Given the description of an element on the screen output the (x, y) to click on. 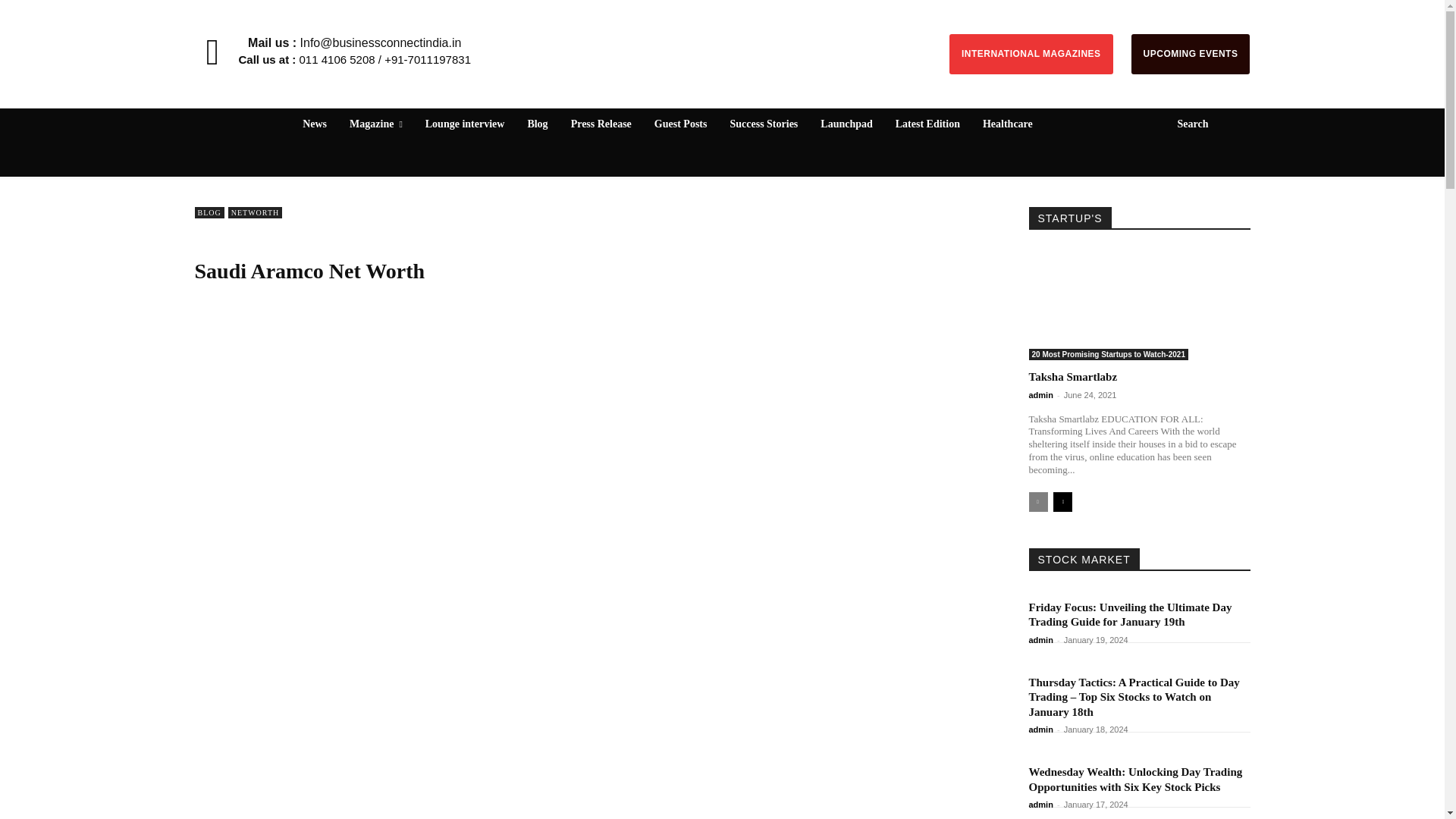
Upcoming Events (1190, 54)
Launchpad (845, 124)
UPCOMING EVENTS (1190, 54)
Healthcare (1008, 124)
Business Connect Logo (721, 35)
Success Stories (763, 124)
Press Release (601, 124)
Search (1204, 124)
Lounge interview (464, 124)
Blog (536, 124)
